Given the description of an element on the screen output the (x, y) to click on. 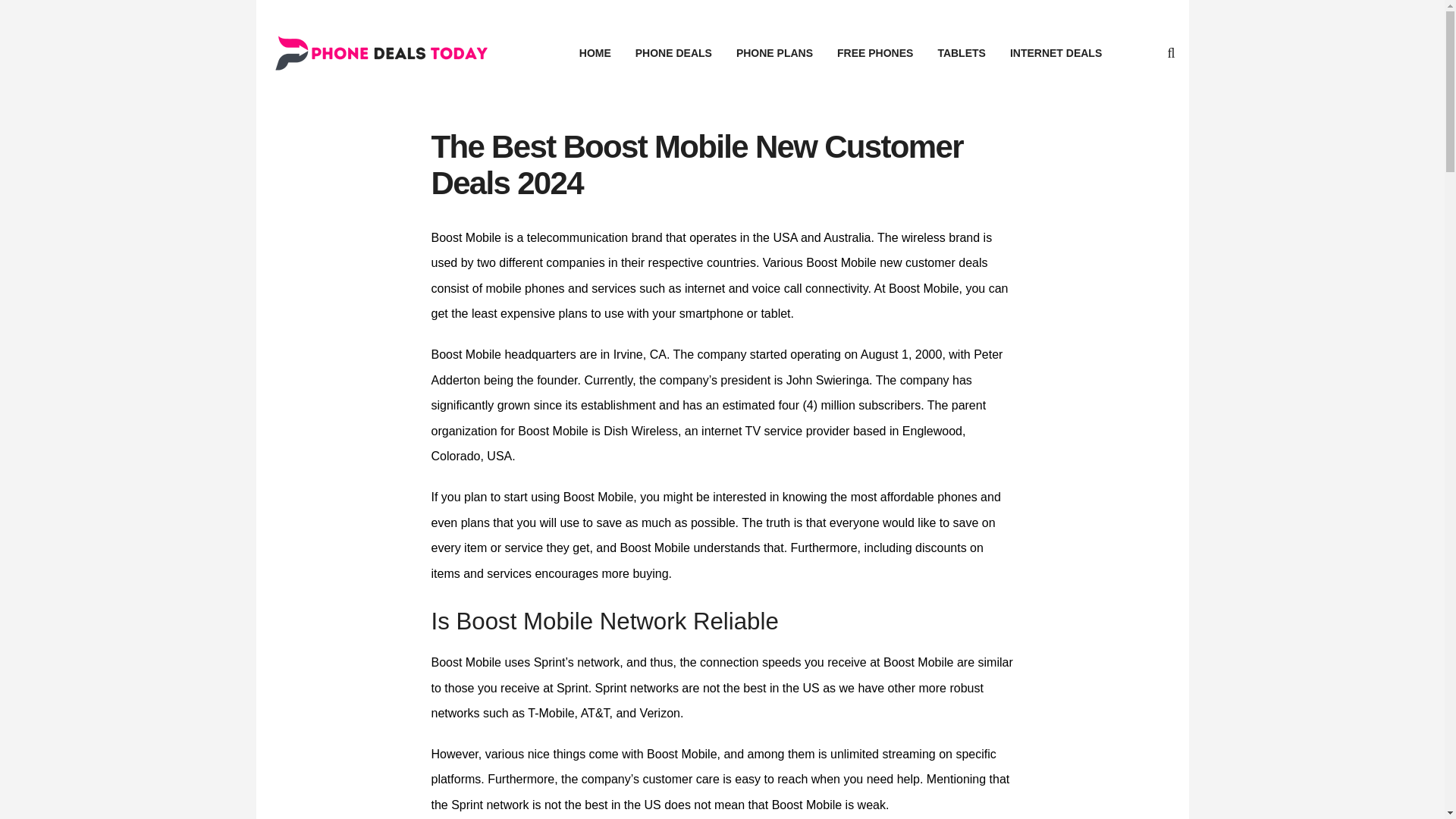
PHONE PLANS (774, 53)
HOME (595, 53)
TABLETS (960, 53)
PHONE DEALS (673, 53)
FREE PHONES (874, 53)
INTERNET DEALS (1055, 53)
